Given the description of an element on the screen output the (x, y) to click on. 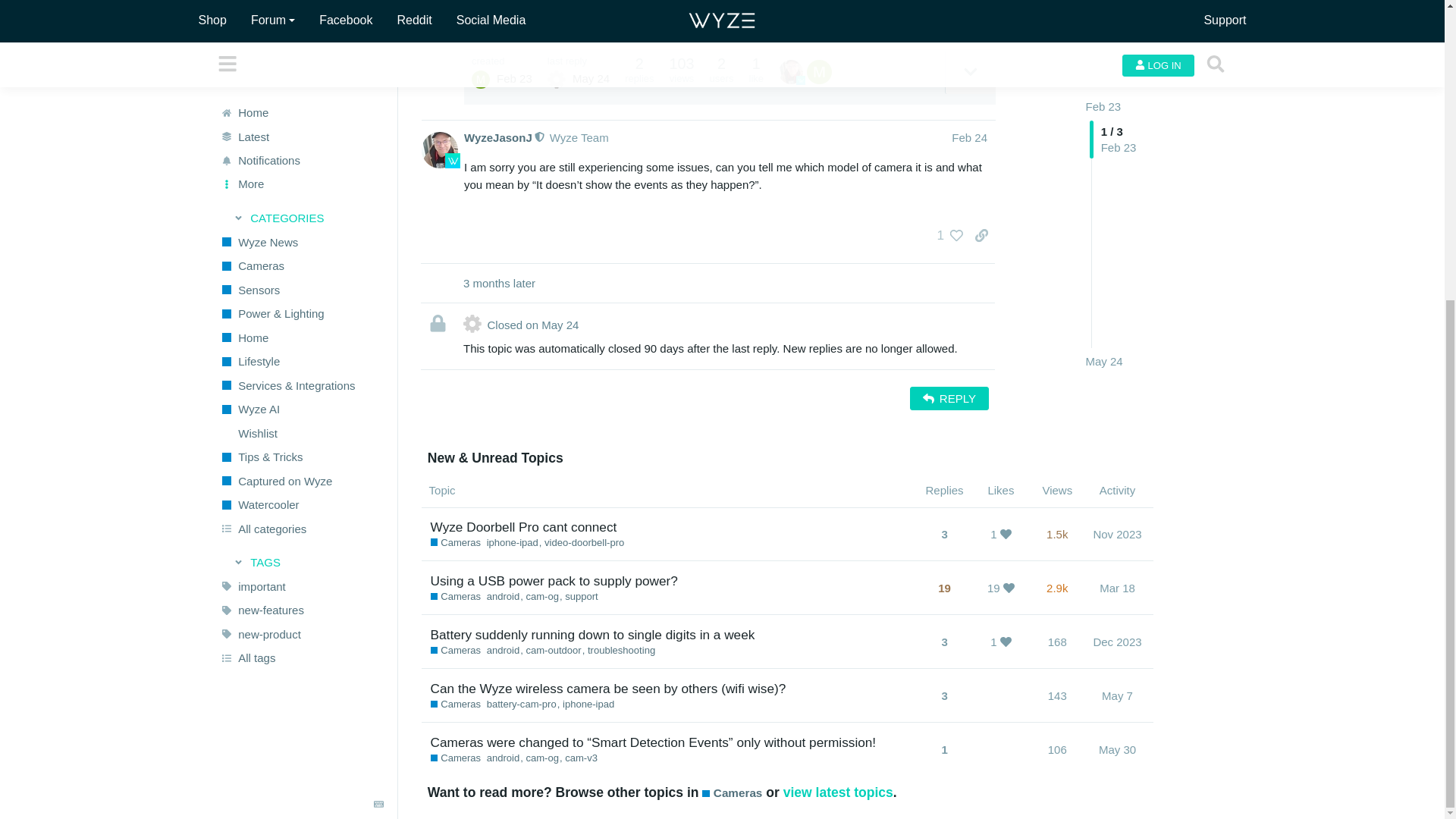
Toggle section (301, 98)
Captured on Wyze (301, 16)
All categories (301, 64)
Watercooler (301, 41)
TAGS (301, 98)
